Given the description of an element on the screen output the (x, y) to click on. 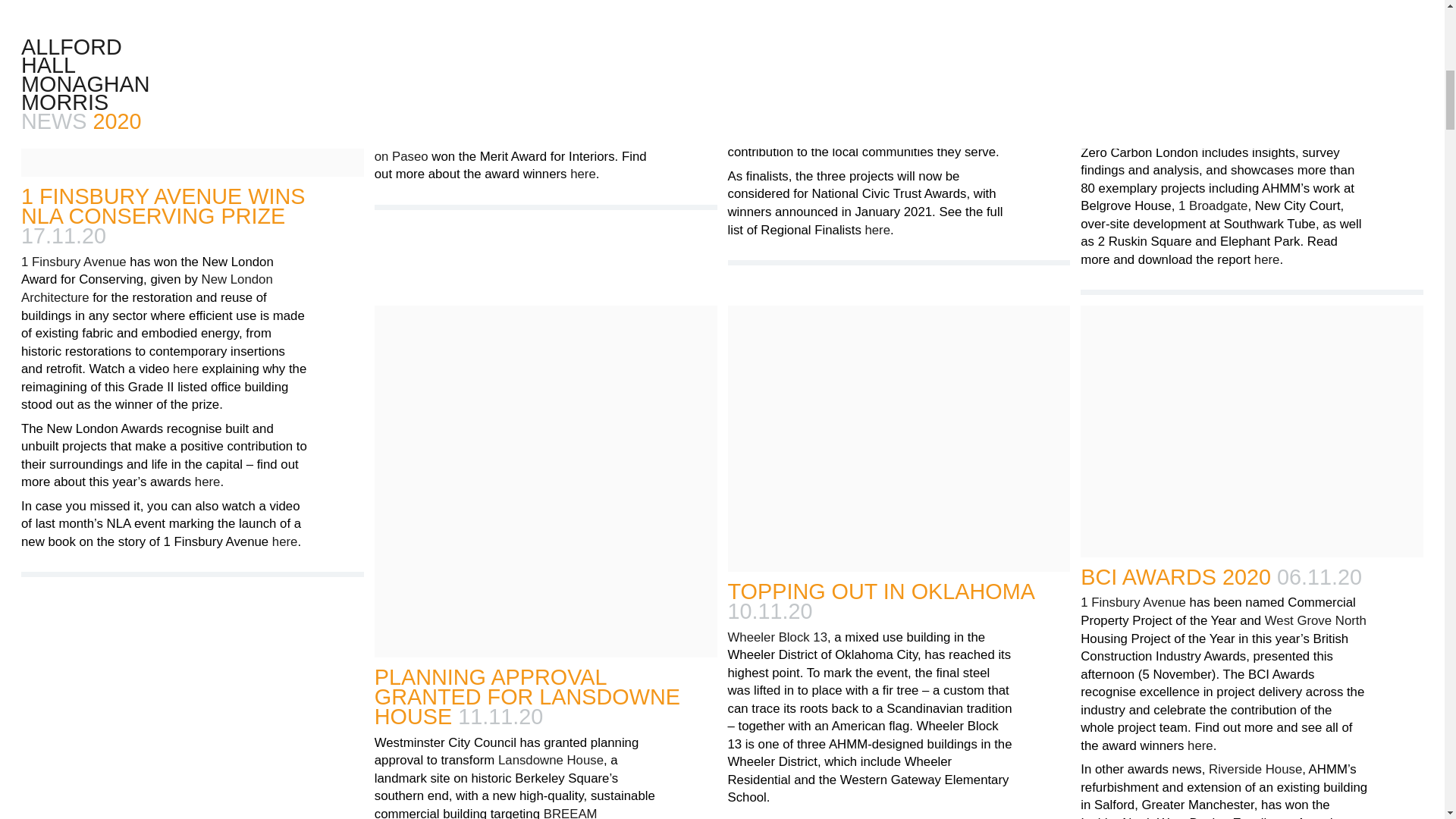
AIA Central Oklahoma (510, 32)
Oso on Paseo (516, 148)
New London Architecture (1151, 64)
Lansdowne House (550, 760)
The Post Building (778, 28)
1 Finsbury Avenue (73, 262)
BREEAM (569, 812)
Royal Arsenal (860, 37)
here (1266, 260)
here (208, 482)
BCI AWARDS 2020 (1175, 576)
here (582, 174)
1 Finsbury Avenue (1133, 602)
here (285, 542)
ZERO CARBON LONDON (1209, 16)
